Given the description of an element on the screen output the (x, y) to click on. 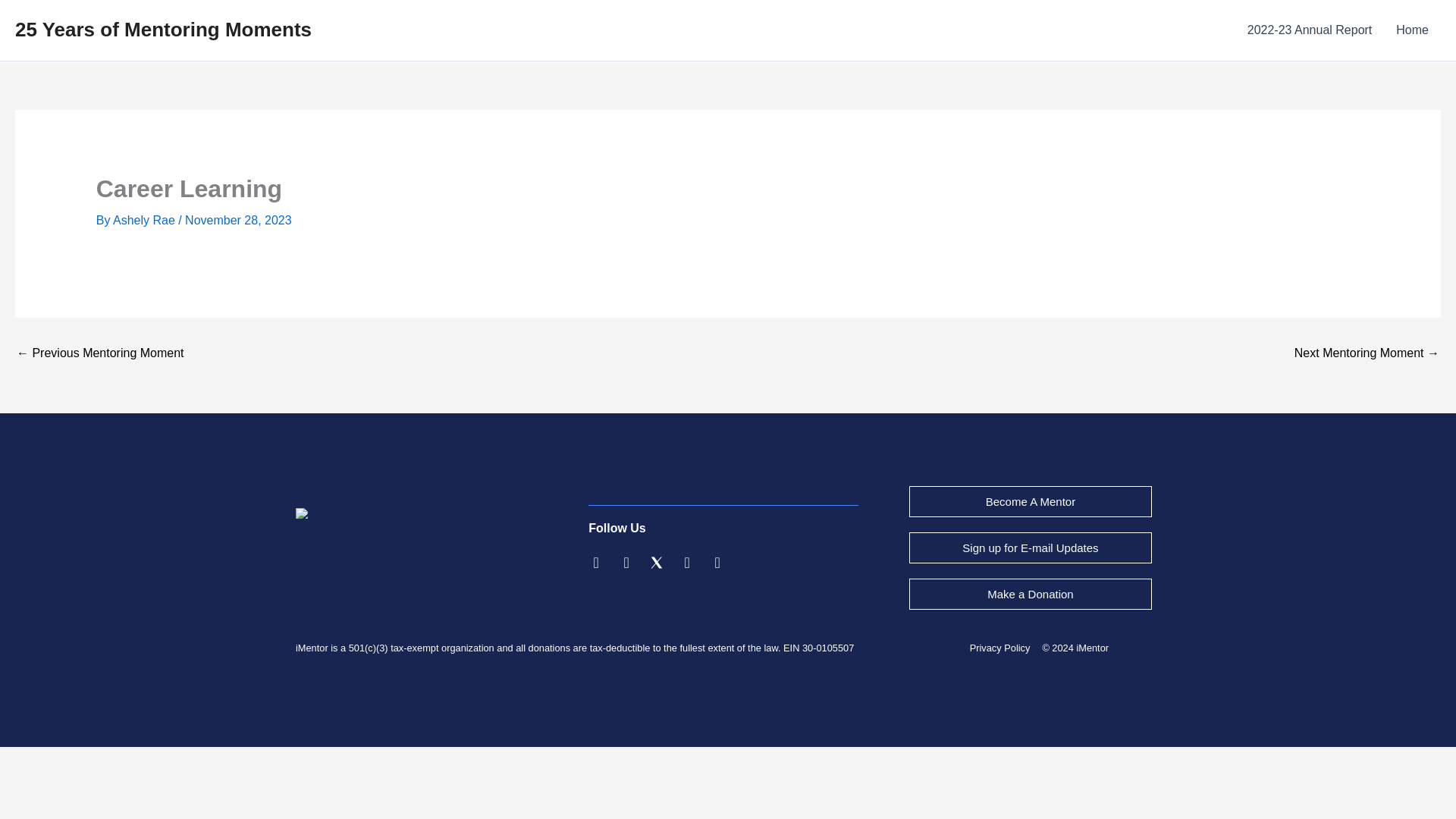
Ashely Rae (145, 219)
Facebook-f (625, 562)
Belonging (100, 353)
Become A Mentor (1029, 501)
Instagram (686, 562)
New Opportunities (1366, 353)
Youtube (717, 562)
Privacy Policy (999, 648)
Home (1412, 30)
View all posts by Ashely Rae (145, 219)
